Given the description of an element on the screen output the (x, y) to click on. 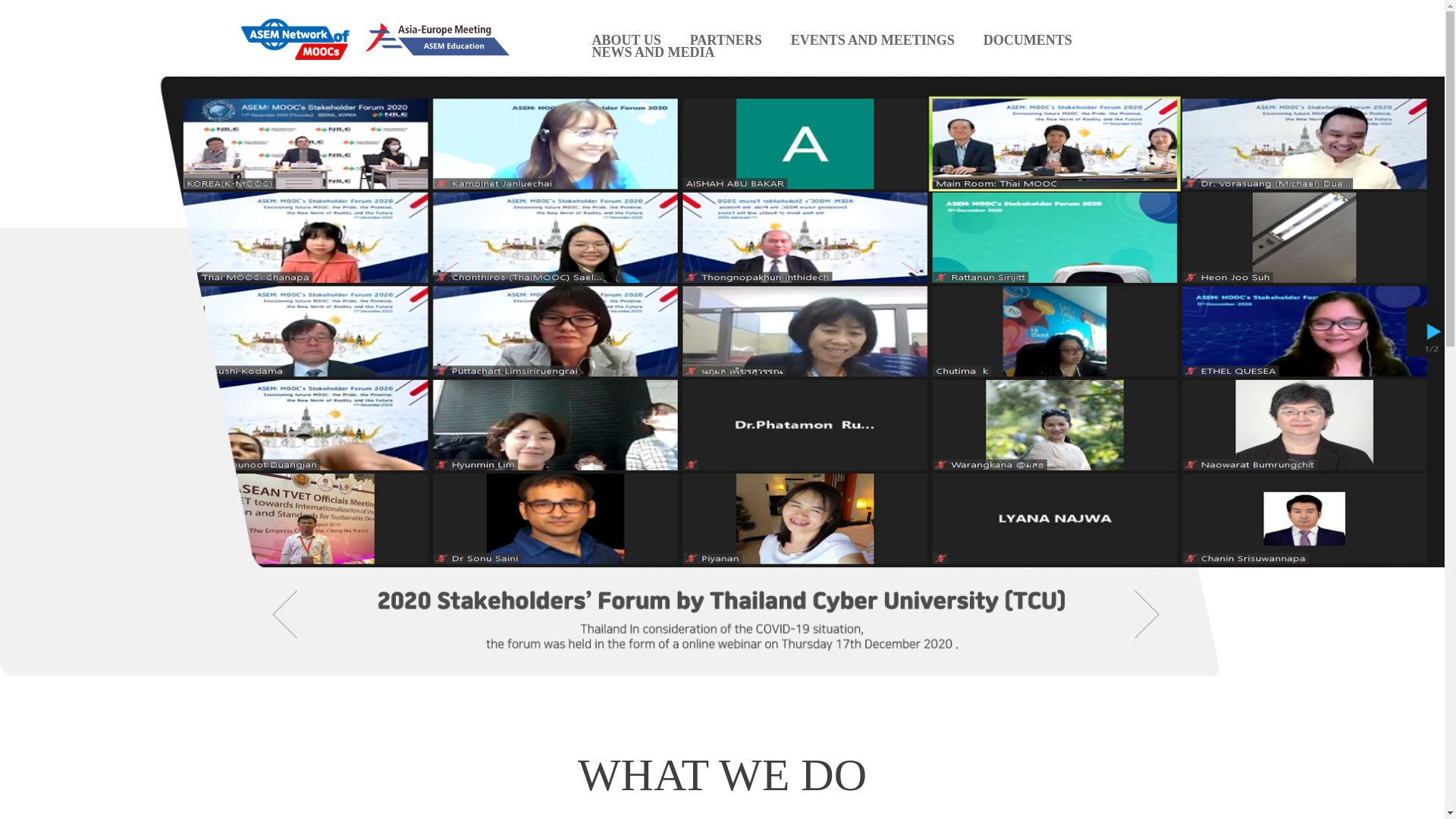
DOCUMENTS (1027, 39)
ABOUT US (626, 39)
NEWS AND MEDIA (652, 52)
EVENTS AND MEETINGS (872, 39)
PARTNERS (725, 39)
